Given the description of an element on the screen output the (x, y) to click on. 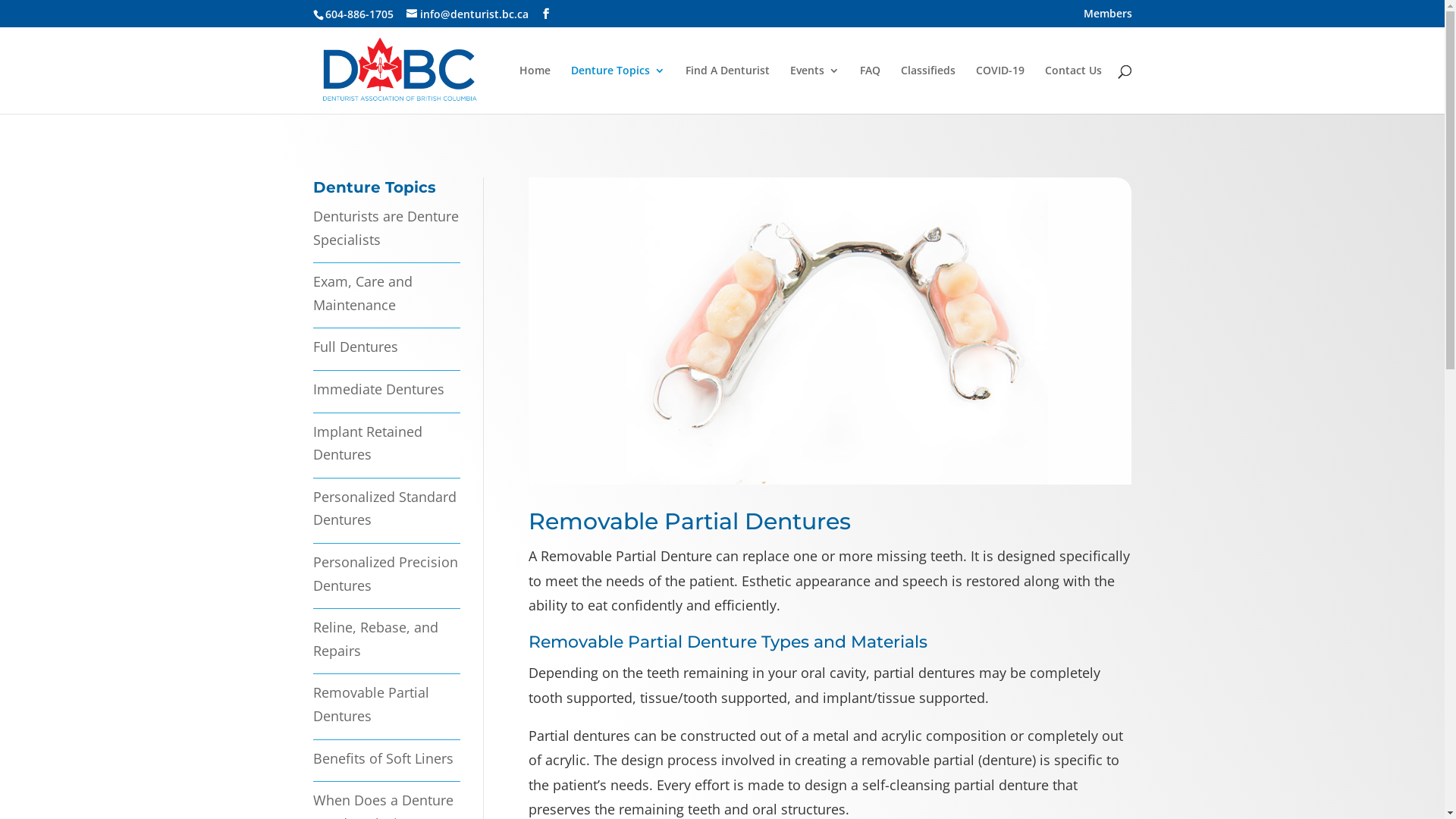
Members Element type: text (1106, 16)
info@denturist.bc.ca Element type: text (467, 13)
Immediate Dentures Element type: text (377, 388)
Reline, Rebase, and Repairs Element type: text (374, 638)
Home Element type: text (533, 89)
Full Dentures Element type: text (354, 346)
Contact Us Element type: text (1072, 89)
Personalized Precision Dentures Element type: text (384, 573)
Find A Denturist Element type: text (727, 89)
Classifieds Element type: text (927, 89)
Implant Retained Dentures Element type: text (366, 443)
Exam, Care and Maintenance Element type: text (361, 292)
Denturists are Denture Specialists Element type: text (385, 227)
Denture Topics Element type: text (617, 89)
Events Element type: text (814, 89)
Removable Partial Dentures Element type: text (370, 703)
Personalized Standard Dentures Element type: text (383, 508)
FAQ Element type: text (869, 89)
COVID-19 Element type: text (999, 89)
Benefits of Soft Liners Element type: text (382, 758)
